Given the description of an element on the screen output the (x, y) to click on. 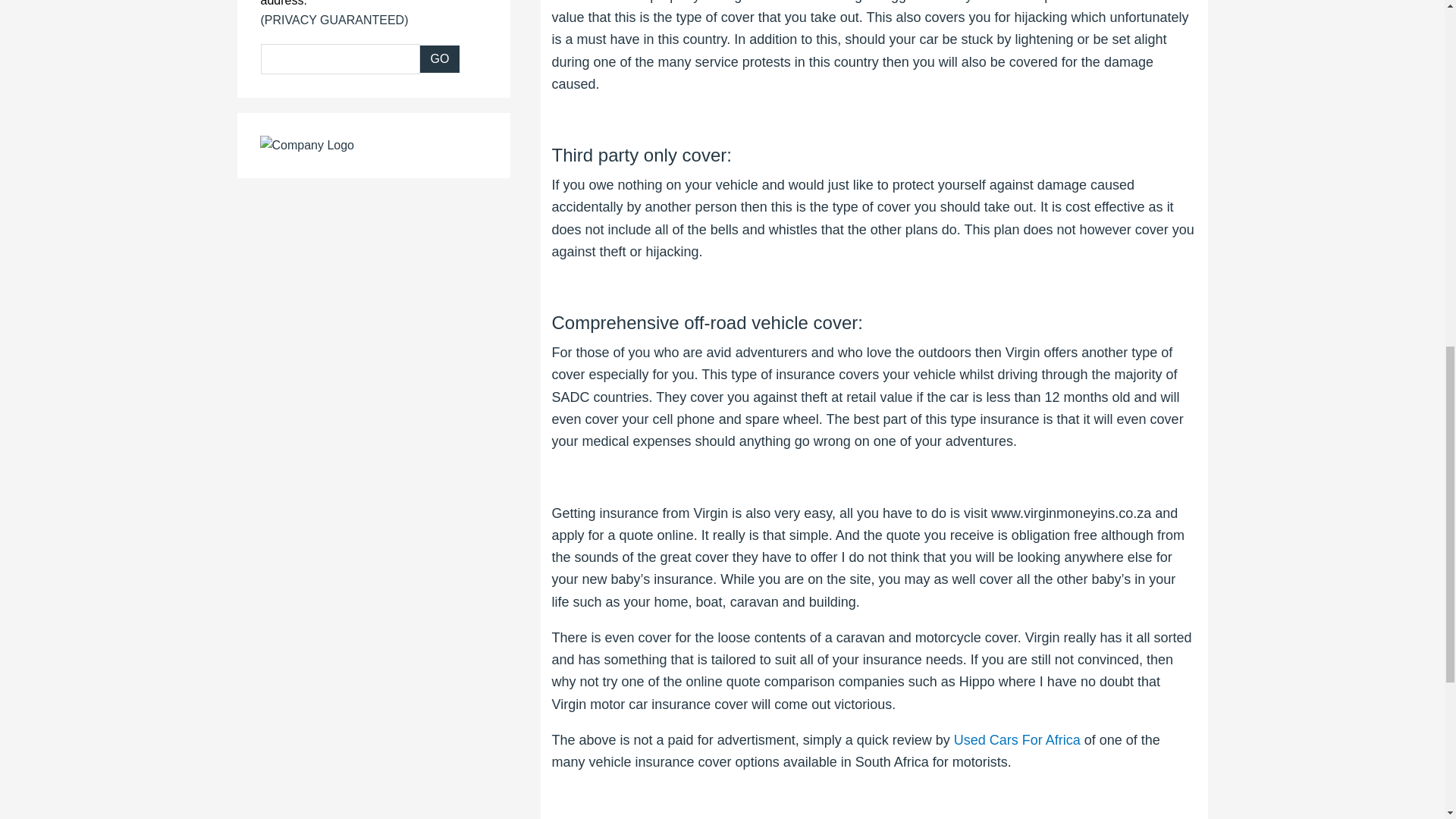
Used Cars For Africa (1016, 739)
Go (440, 58)
Go (440, 58)
Used Cars For Africa (1016, 739)
